Given the description of an element on the screen output the (x, y) to click on. 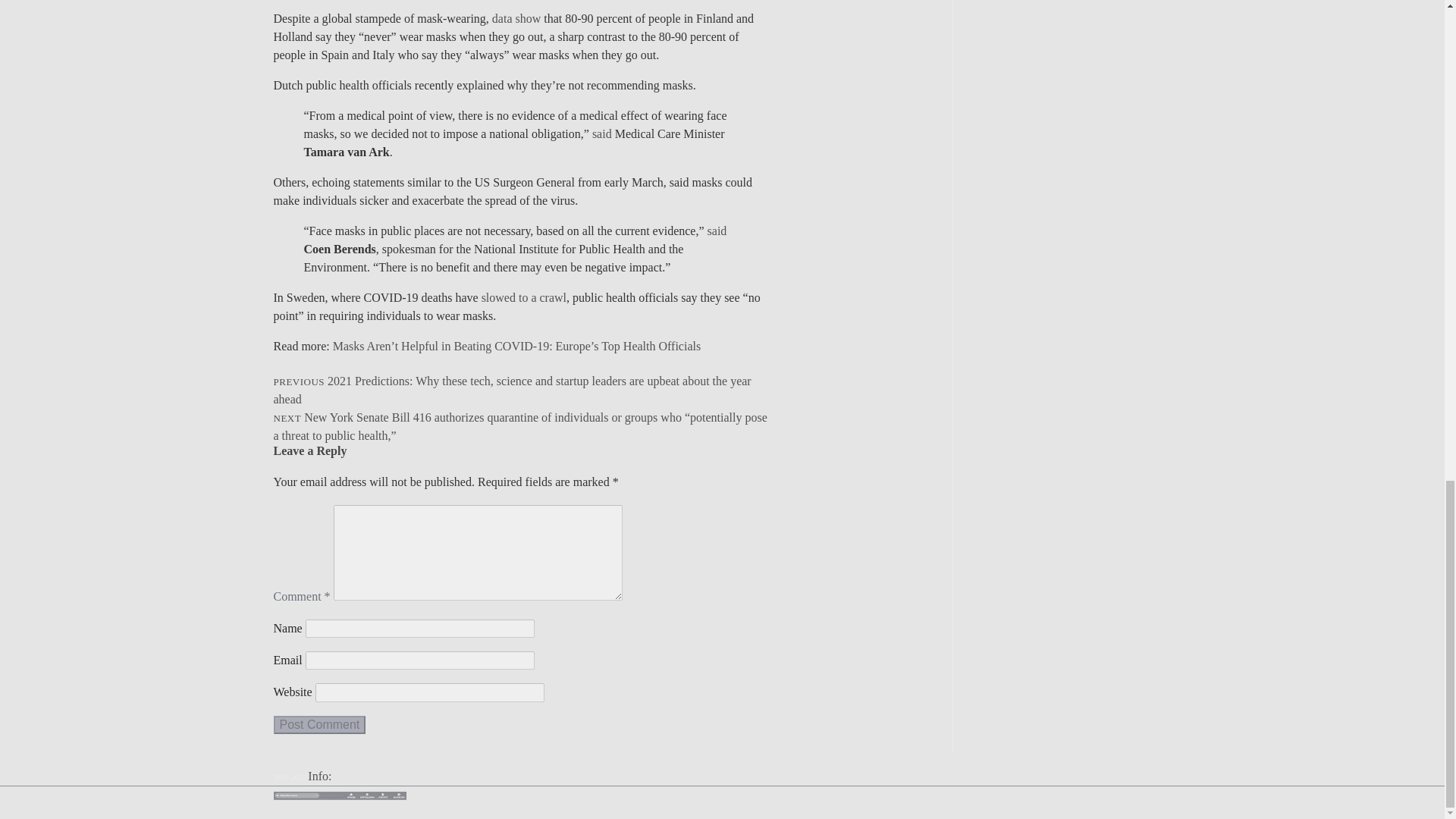
said (716, 230)
data show (516, 18)
slowed to a crawl (523, 297)
Post Comment (319, 724)
Post Comment (319, 724)
said (601, 133)
